Given the description of an element on the screen output the (x, y) to click on. 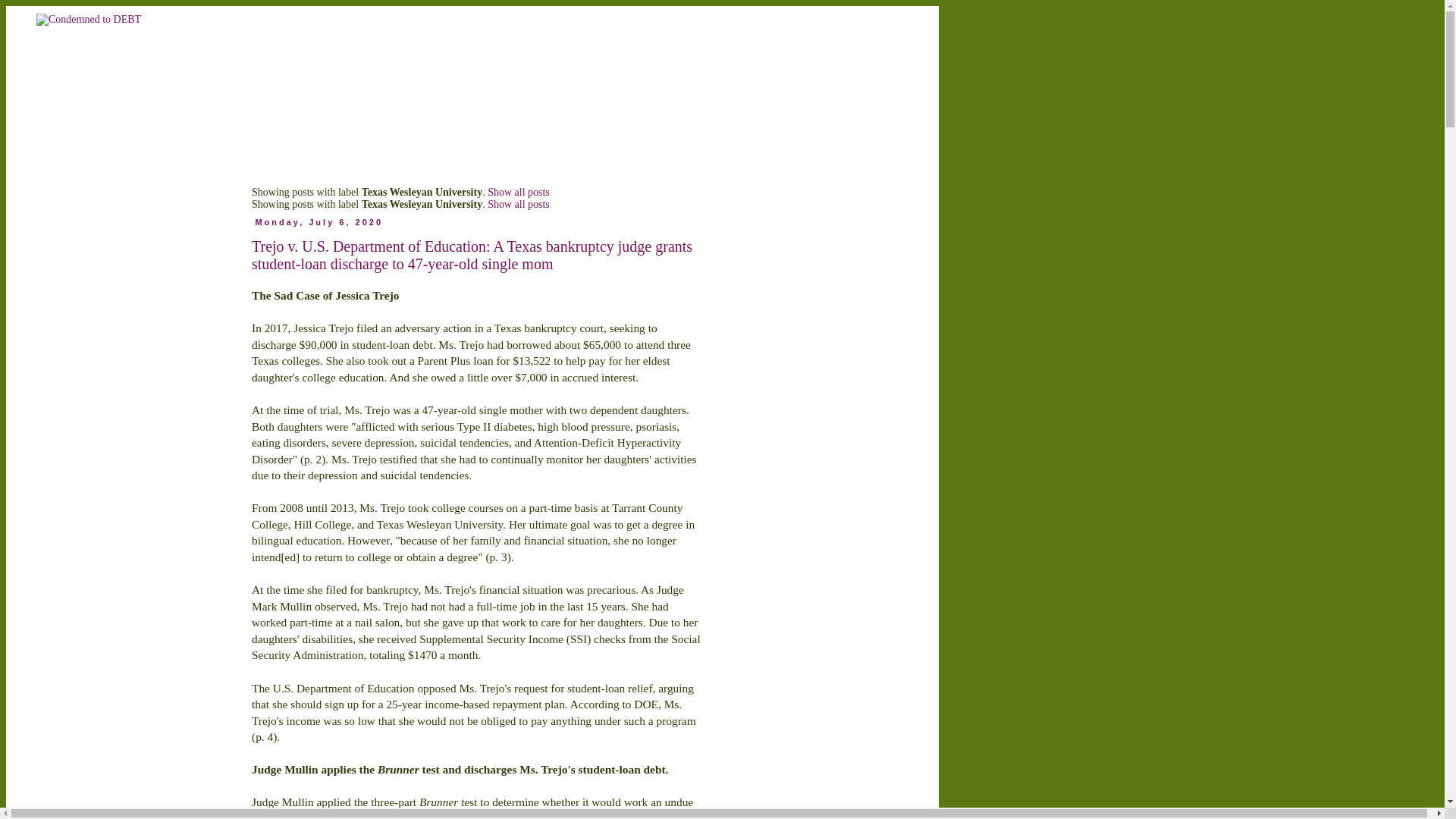
Show all posts (518, 204)
Show all posts (518, 192)
